Given the description of an element on the screen output the (x, y) to click on. 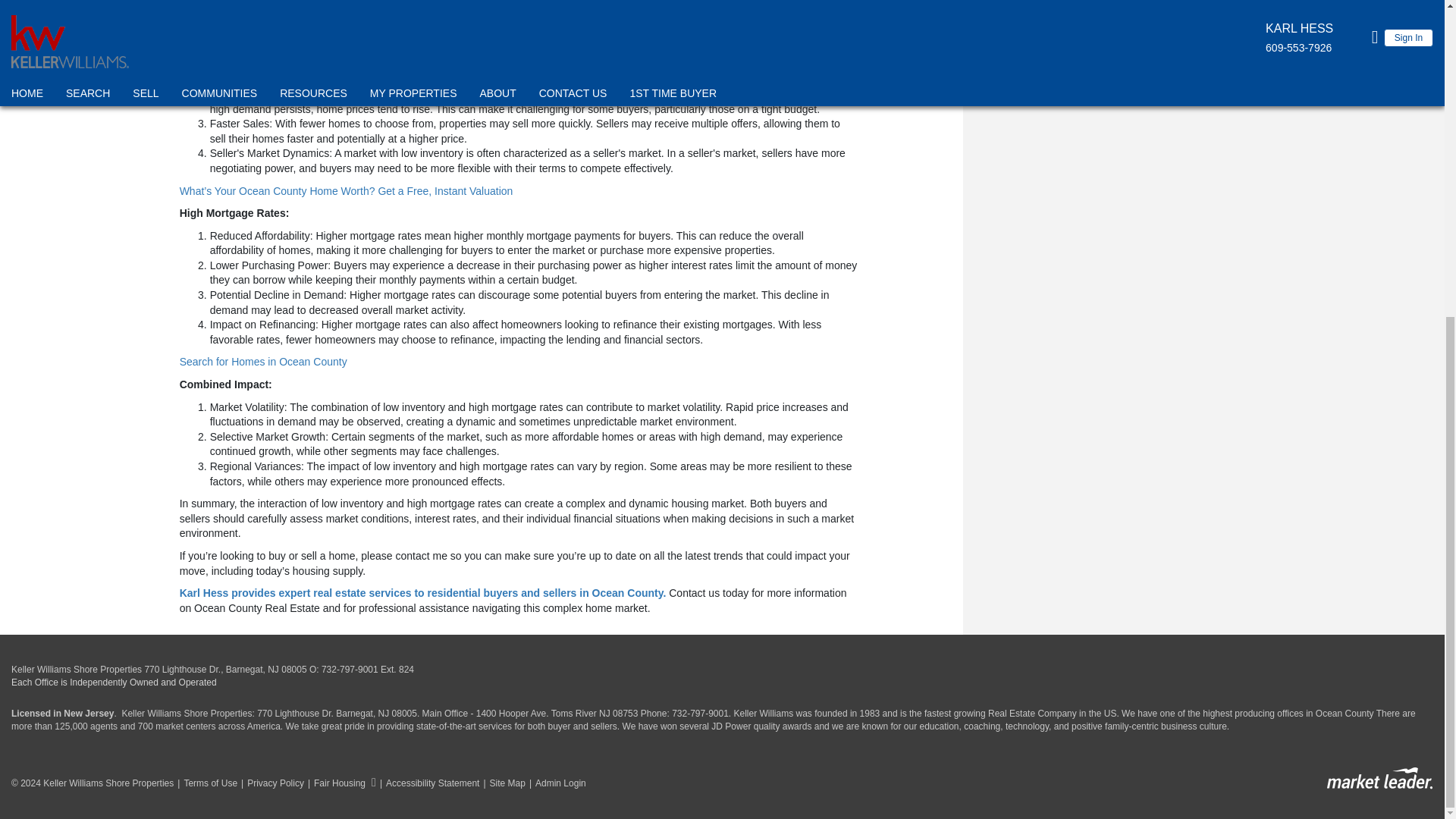
Powered By Market Leader (1379, 778)
Search for Homes in Ocean County (263, 361)
